Given the description of an element on the screen output the (x, y) to click on. 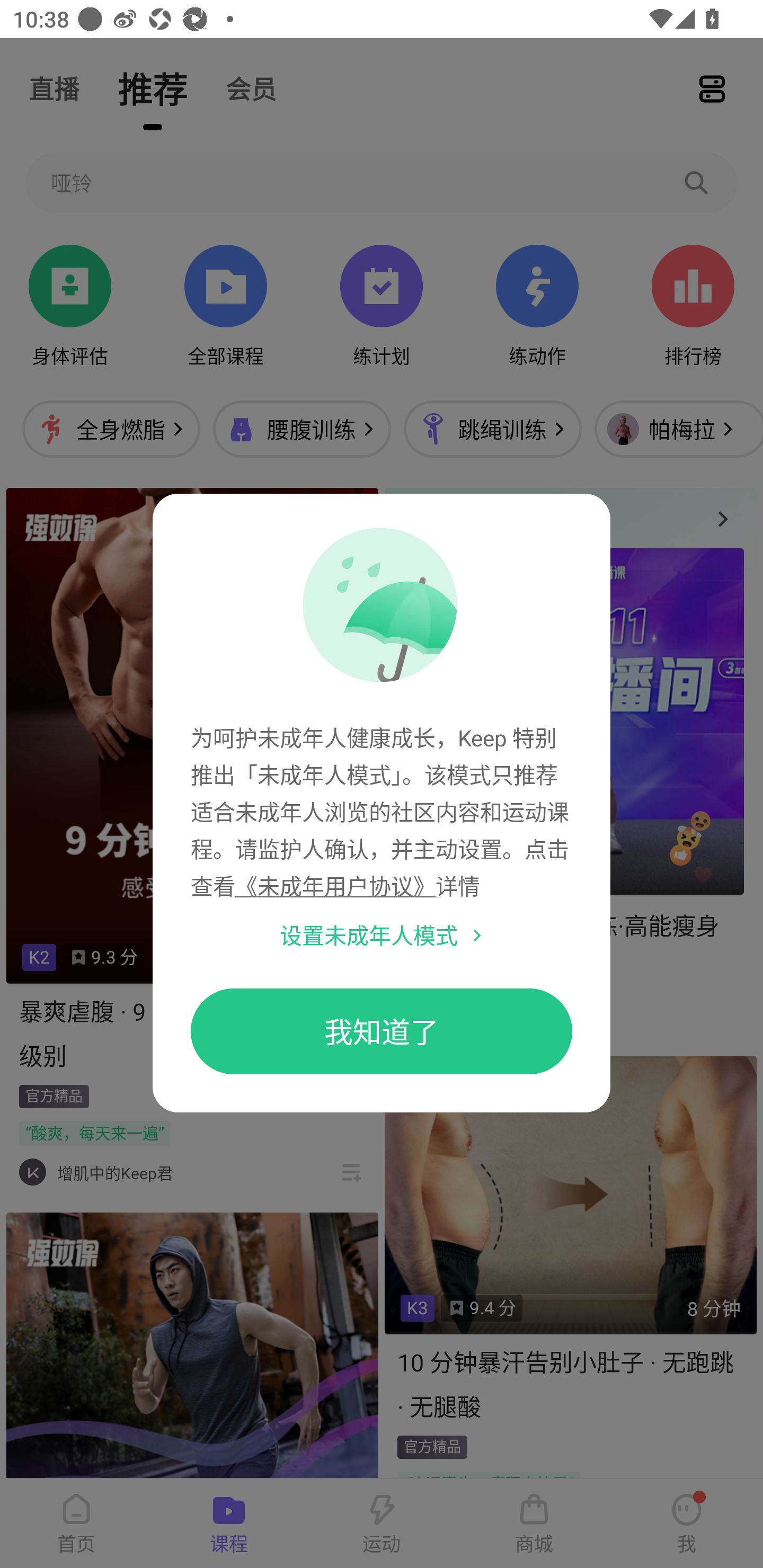
设置未成年人模式 (368, 935)
我知道了 (381, 1030)
